Given the description of an element on the screen output the (x, y) to click on. 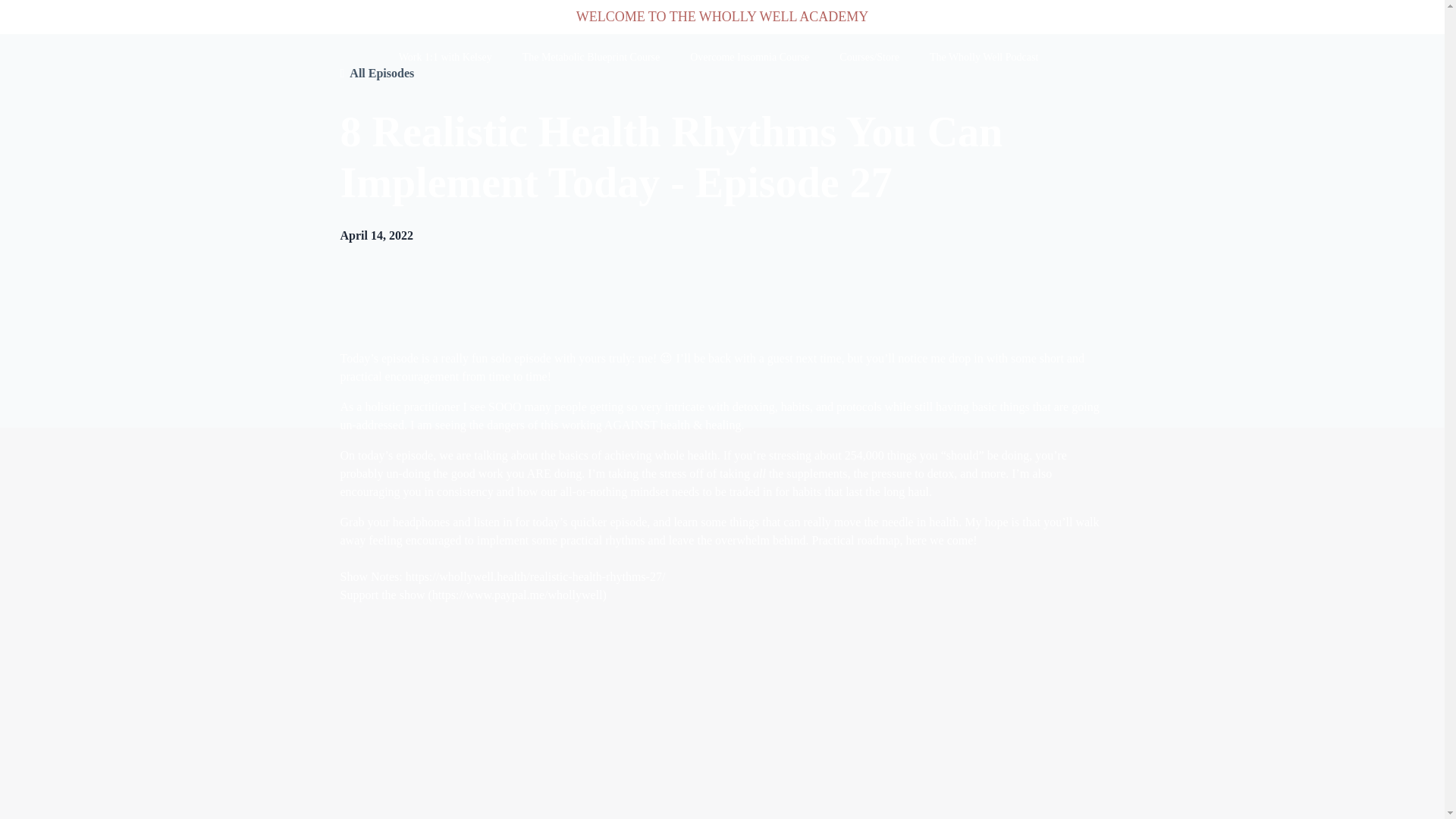
Overcome Insomnia Course (749, 57)
The Metabolic Blueprint Course (591, 57)
The Wholly Well Podcast (984, 57)
Work 1:1 with Kelsey (445, 57)
Support the show (382, 594)
All Episodes (381, 73)
